Given the description of an element on the screen output the (x, y) to click on. 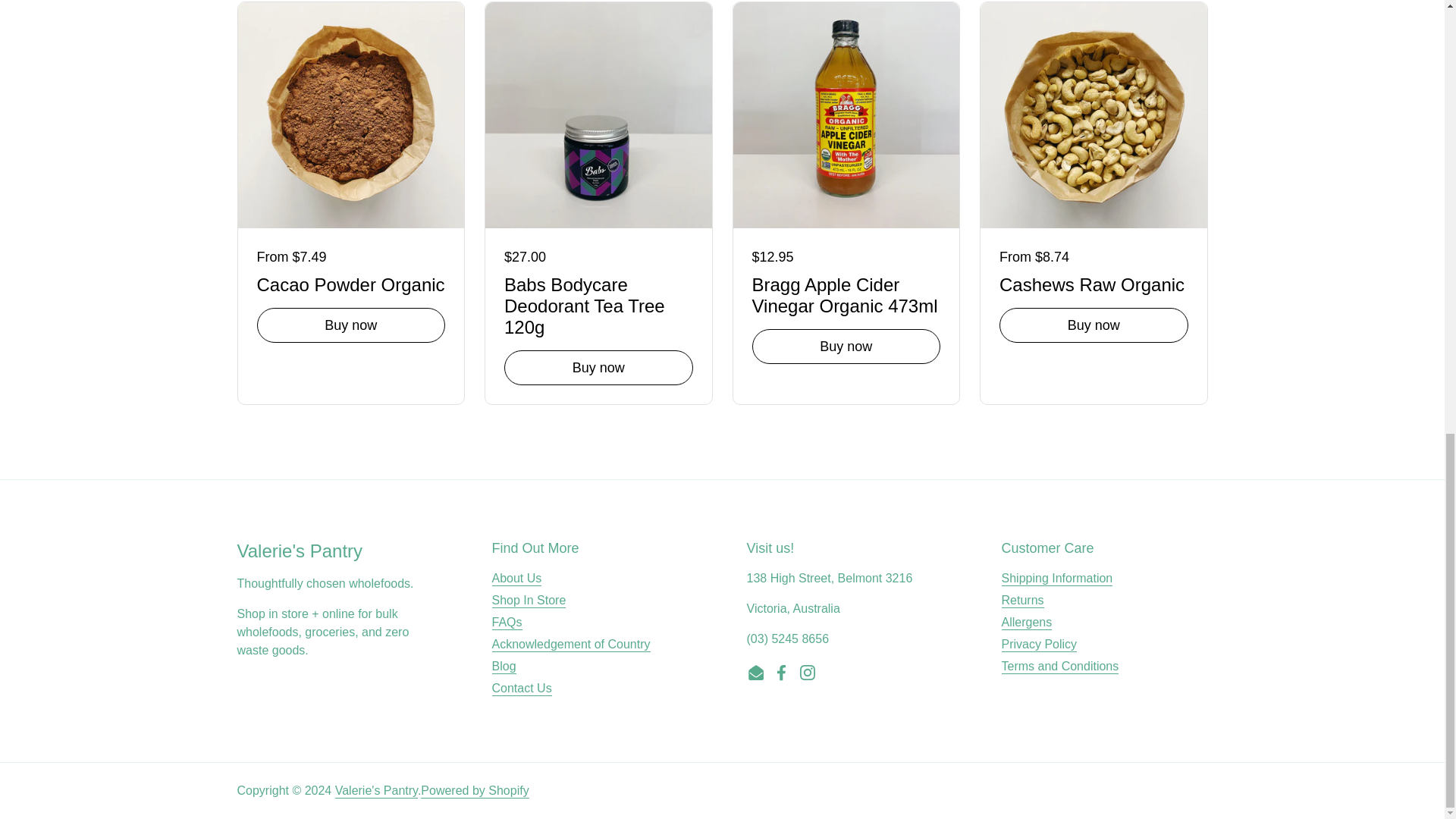
Cacao Powder Organic (350, 282)
Babs Bodycare Deodorant Tea Tree 120g (598, 303)
Bragg Apple Cider Vinegar Organic 473ml (846, 293)
Cashews Raw Organic (1093, 282)
